Given the description of an element on the screen output the (x, y) to click on. 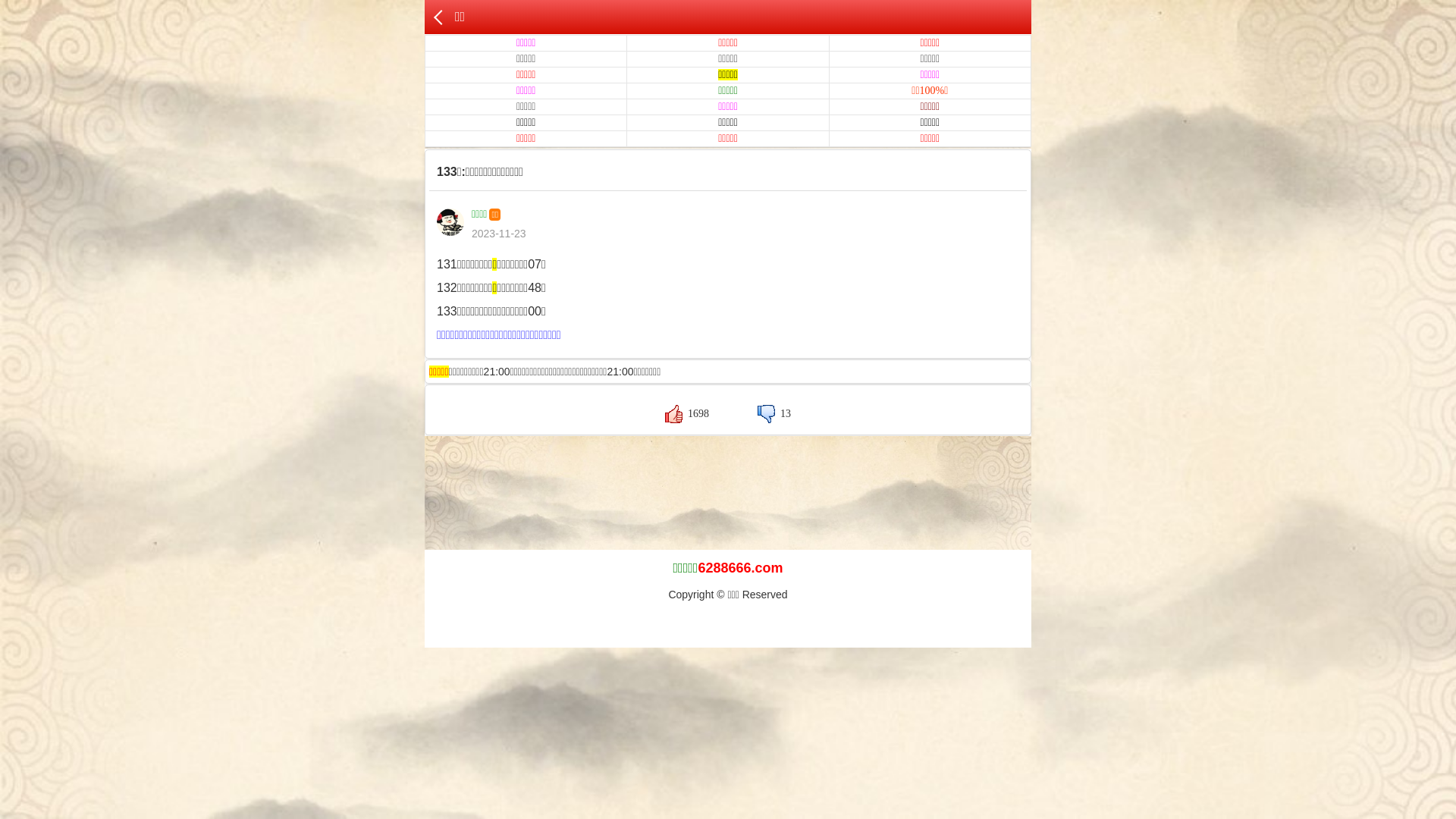
13 Element type: text (773, 413)
1698 Element type: text (687, 413)
